Given the description of an element on the screen output the (x, y) to click on. 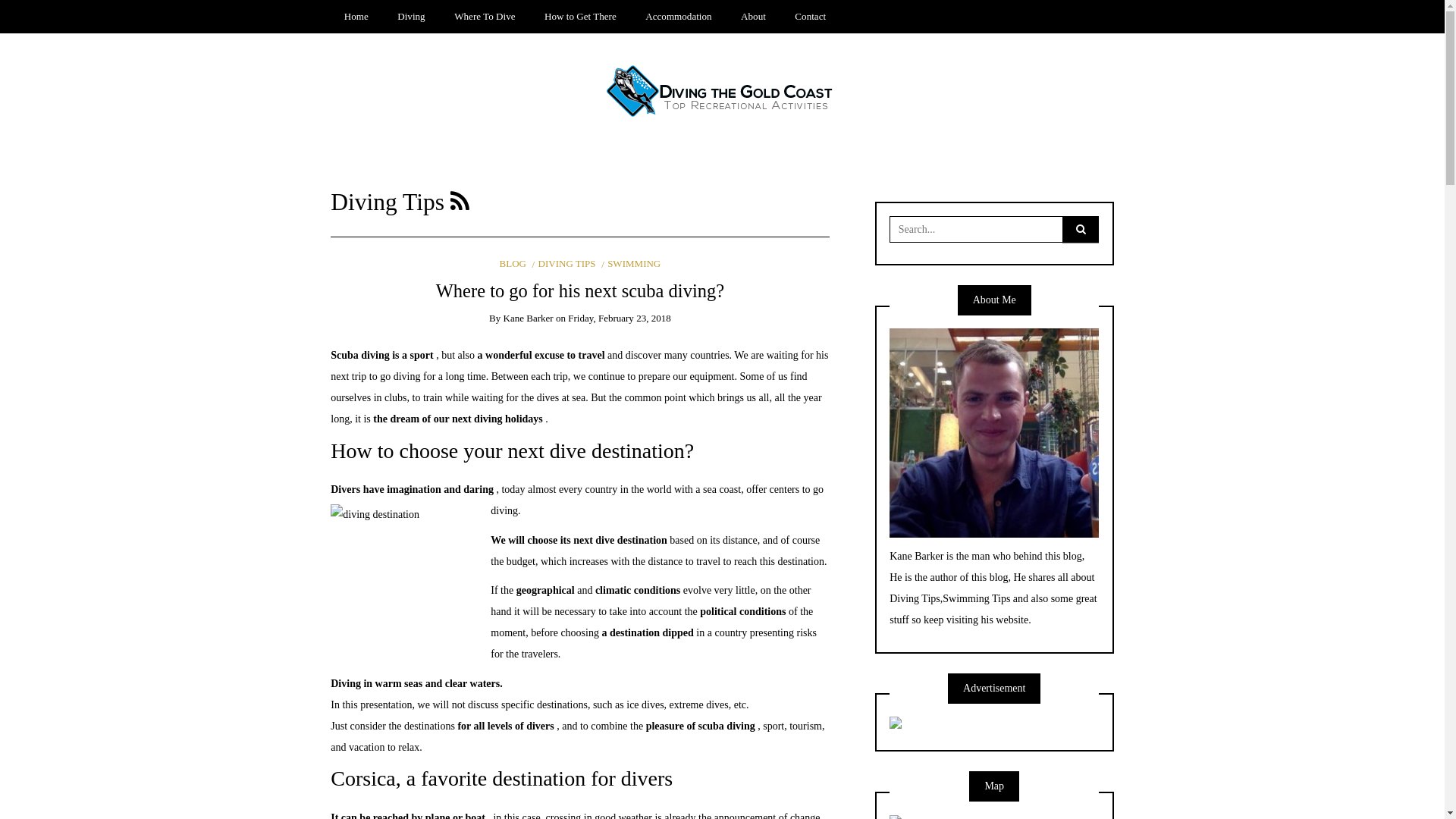
Where To Dive Element type: text (484, 16)
Home Element type: text (355, 16)
SWIMMING Element type: text (630, 263)
Feed Subscription Element type: hover (459, 201)
DIVING TIPS Element type: text (564, 263)
About Element type: text (753, 16)
How to Get There Element type: text (580, 16)
Diving Element type: text (411, 16)
Accommodation Element type: text (678, 16)
Where to go for his next scuba diving? Element type: text (580, 290)
Search Element type: text (31, 14)
Friday, February 23, 2018 Element type: text (618, 317)
BLOG Element type: text (512, 263)
Contact Element type: text (810, 16)
Kane Barker Element type: text (528, 317)
